Given the description of an element on the screen output the (x, y) to click on. 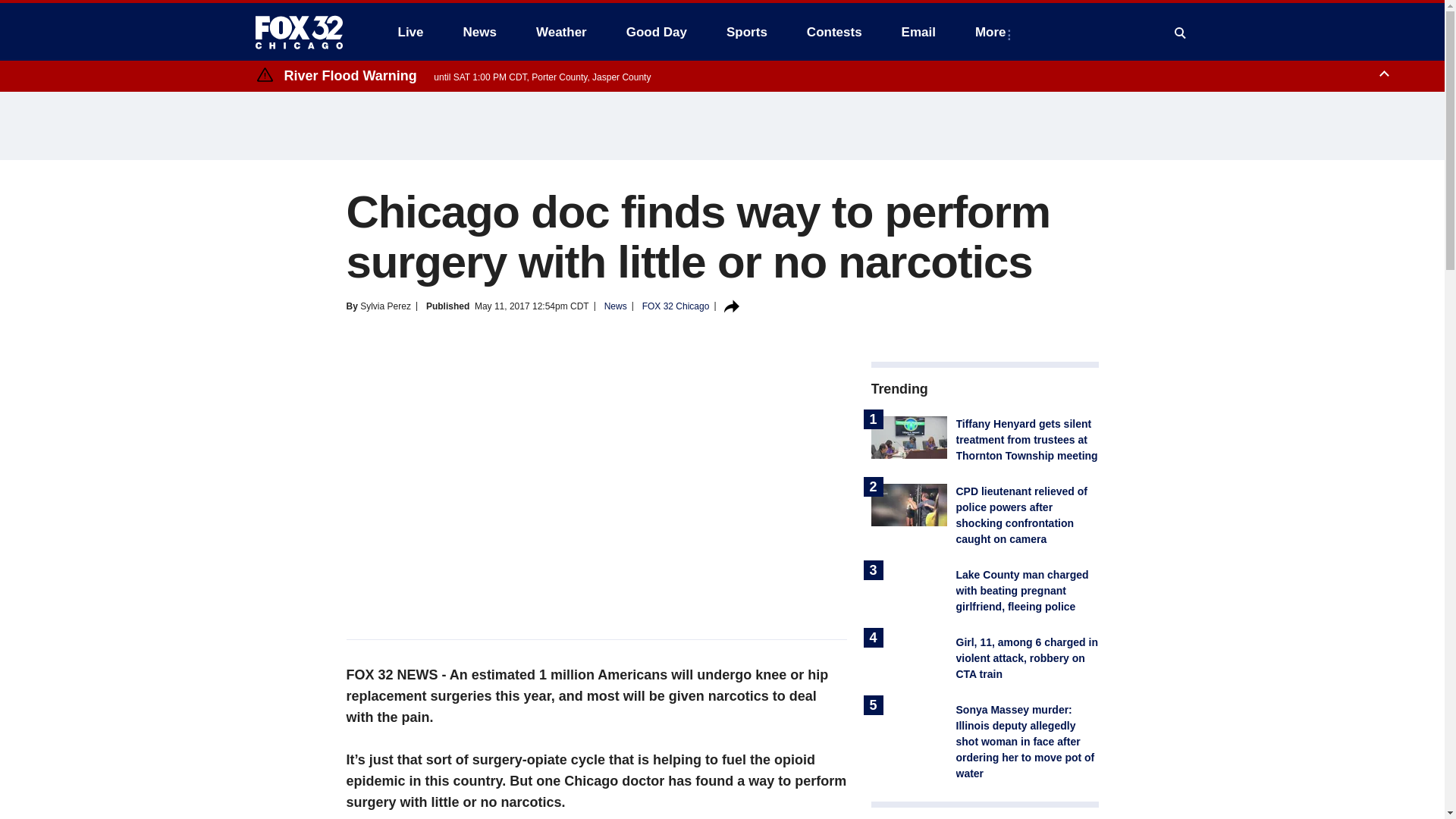
Live (410, 32)
Sports (746, 32)
Weather (561, 32)
More (993, 32)
Contests (834, 32)
Good Day (656, 32)
News (479, 32)
Email (918, 32)
